Given the description of an element on the screen output the (x, y) to click on. 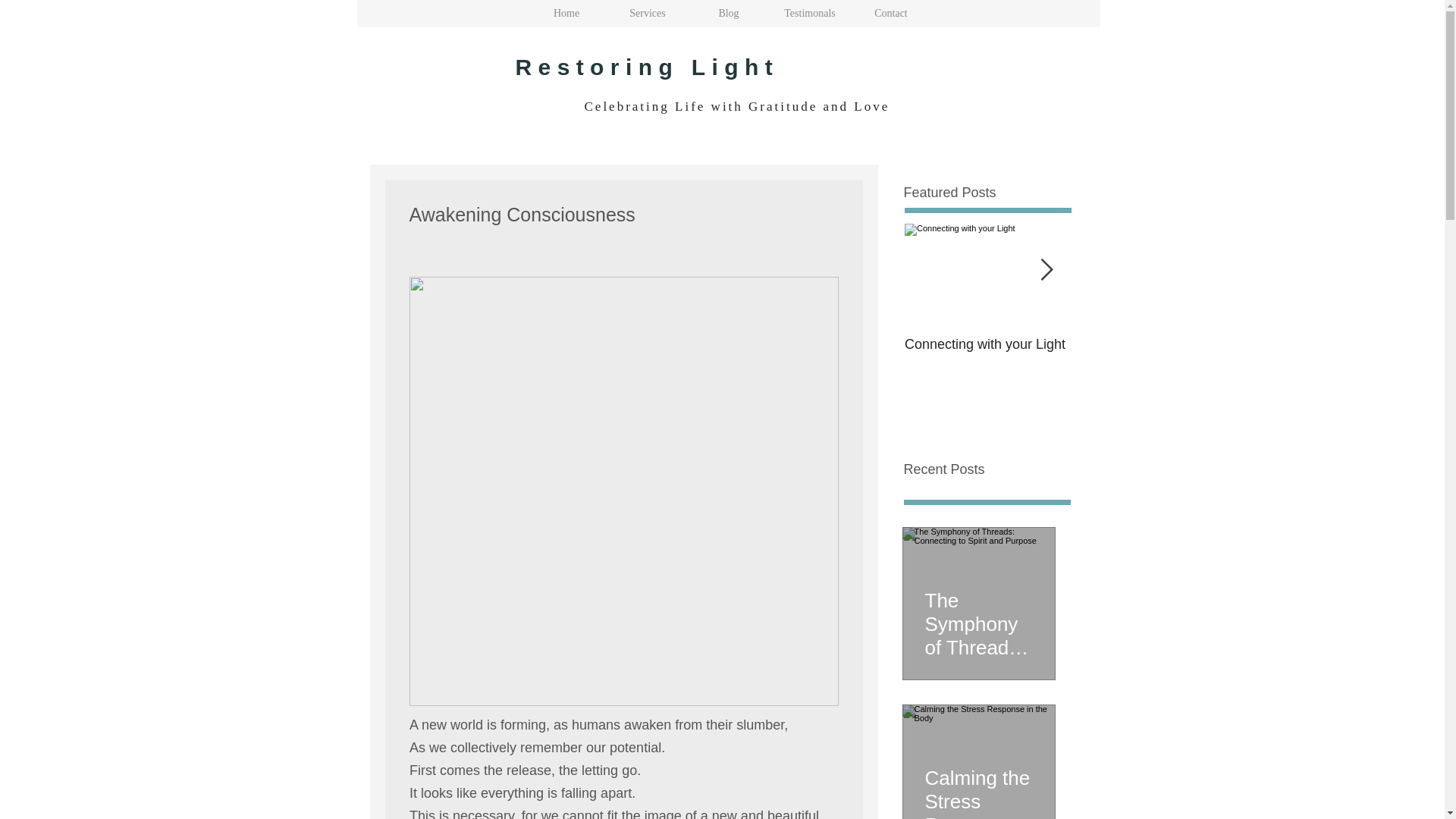
Our Stories Reveal Our Journeys (1153, 352)
Blog (727, 13)
Contact (890, 13)
Services (647, 13)
Calming the Stress Response in the Body (978, 785)
Connecting with your Light (987, 344)
Testimonals (809, 13)
The Symphony of Threads: Connecting to Spirit and Purpose (978, 617)
Home (566, 13)
